Given the description of an element on the screen output the (x, y) to click on. 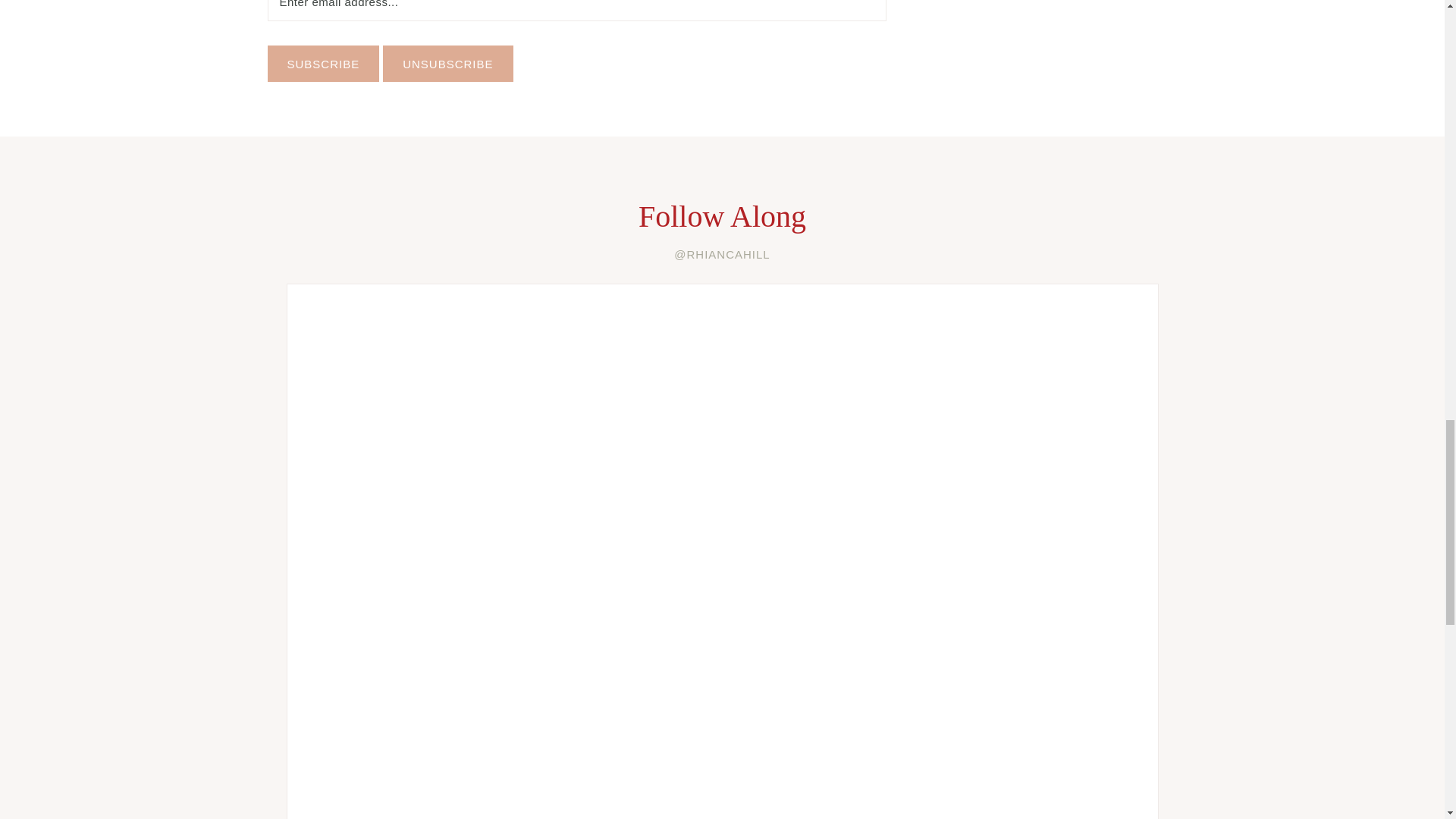
Subscribe (322, 63)
Unsubscribe (447, 63)
Enter email address... (575, 10)
